Given the description of an element on the screen output the (x, y) to click on. 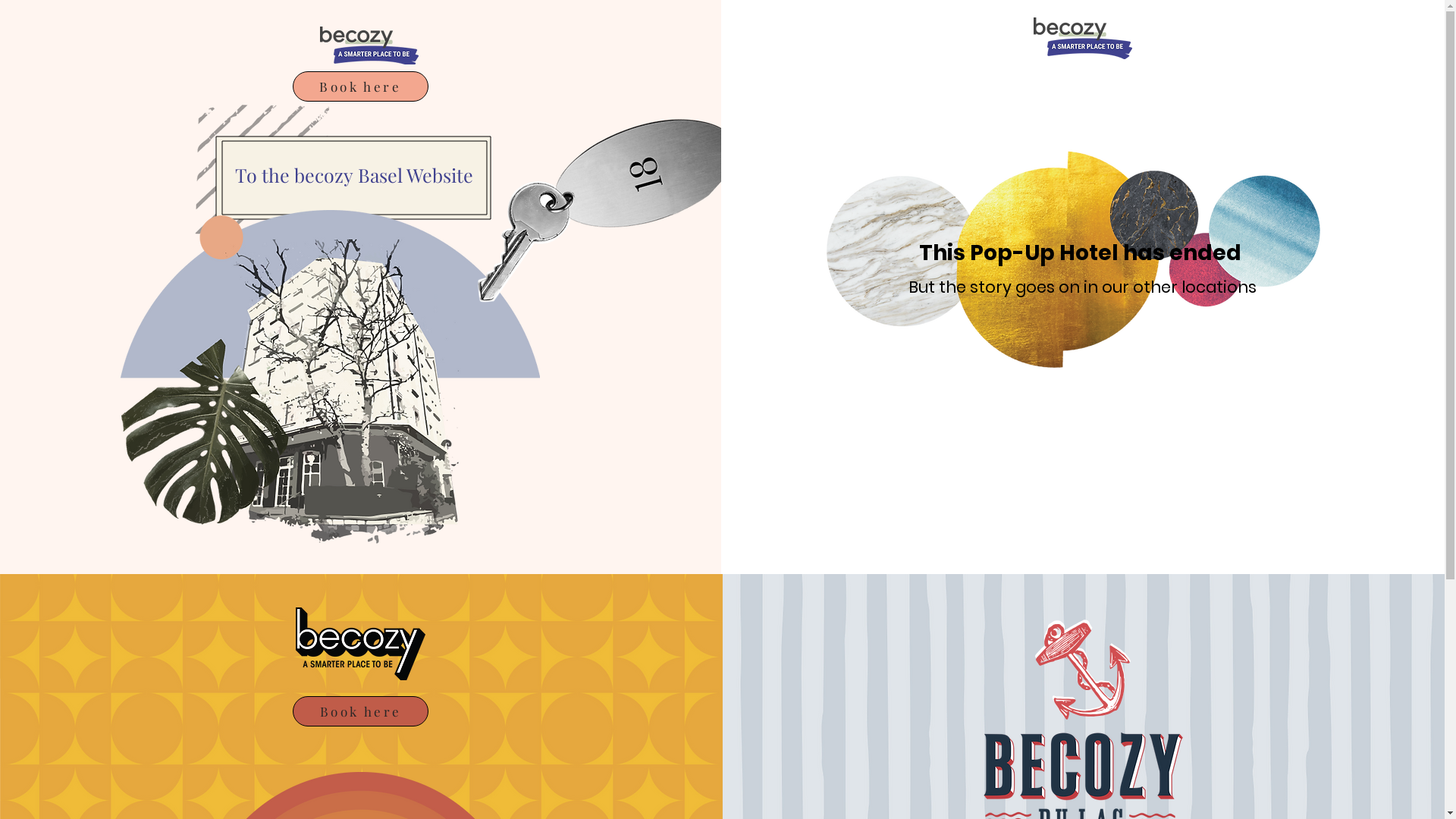
becozy-logo.png Element type: hover (360, 643)
Book here Element type: text (360, 711)
Group 621.png Element type: hover (369, 45)
To the becozy Basel Website Element type: text (354, 175)
logo-becozy 1 (4) Voilet.png Element type: hover (1082, 38)
Book here Element type: text (360, 86)
This Pop-Up Hotel has ended  Element type: text (1082, 252)
